Given the description of an element on the screen output the (x, y) to click on. 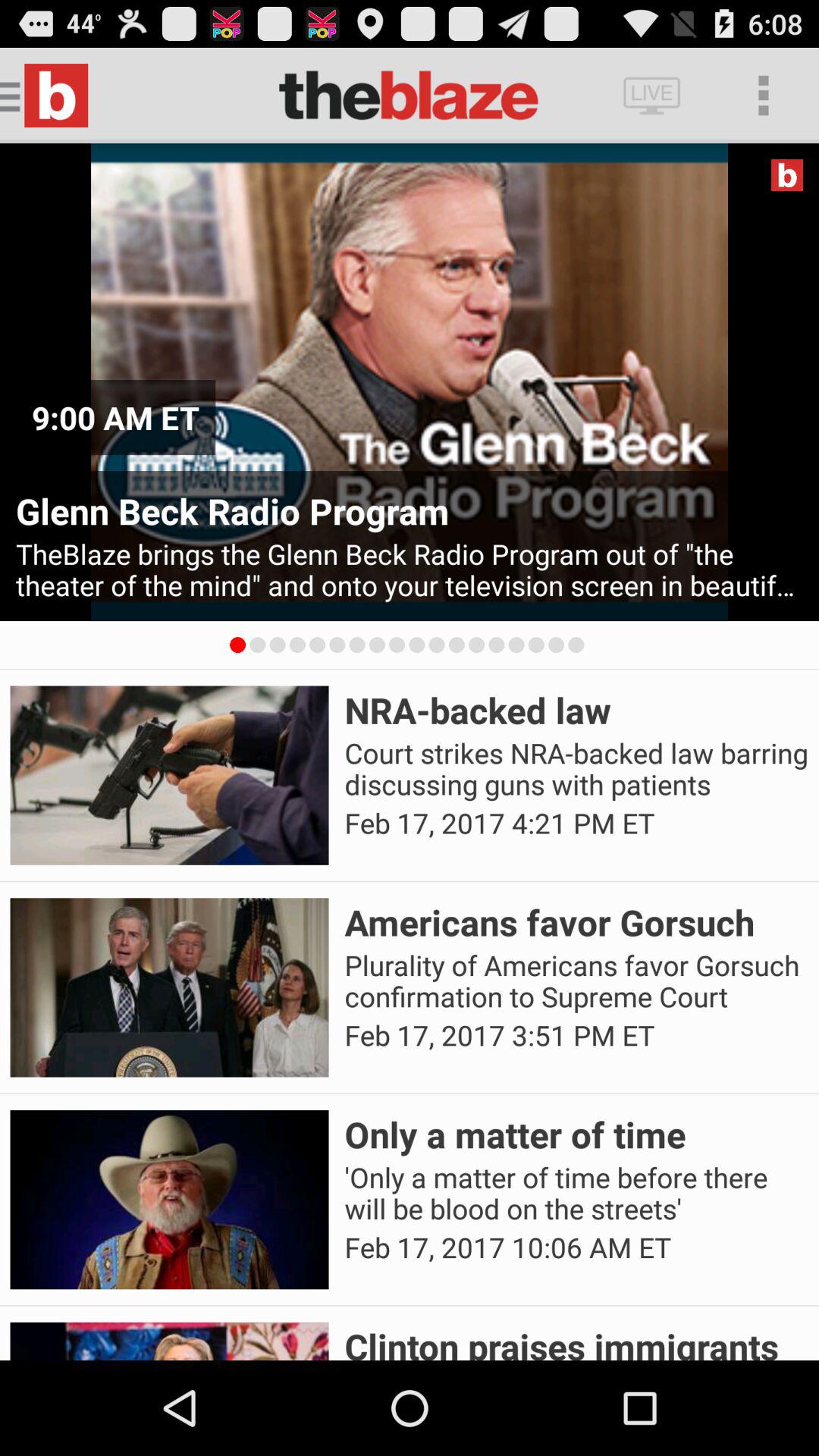
choose plurality of americans item (576, 981)
